Given the description of an element on the screen output the (x, y) to click on. 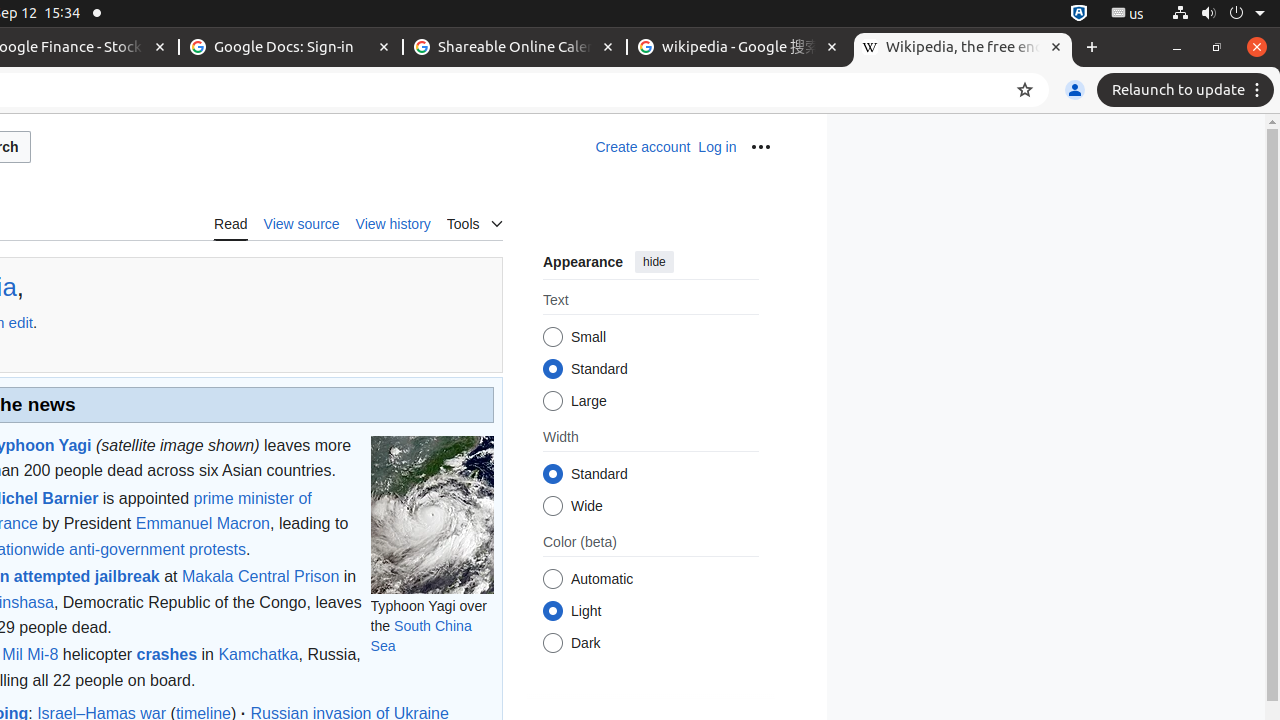
Google Docs: Sign-in - Memory usage - 34.0 MB Element type: page-tab (291, 47)
South China Sea Element type: link (421, 636)
hide Element type: push-button (654, 261)
:1.72/StatusNotifierItem Element type: menu (1079, 13)
Read Element type: link (231, 223)
